Given the description of an element on the screen output the (x, y) to click on. 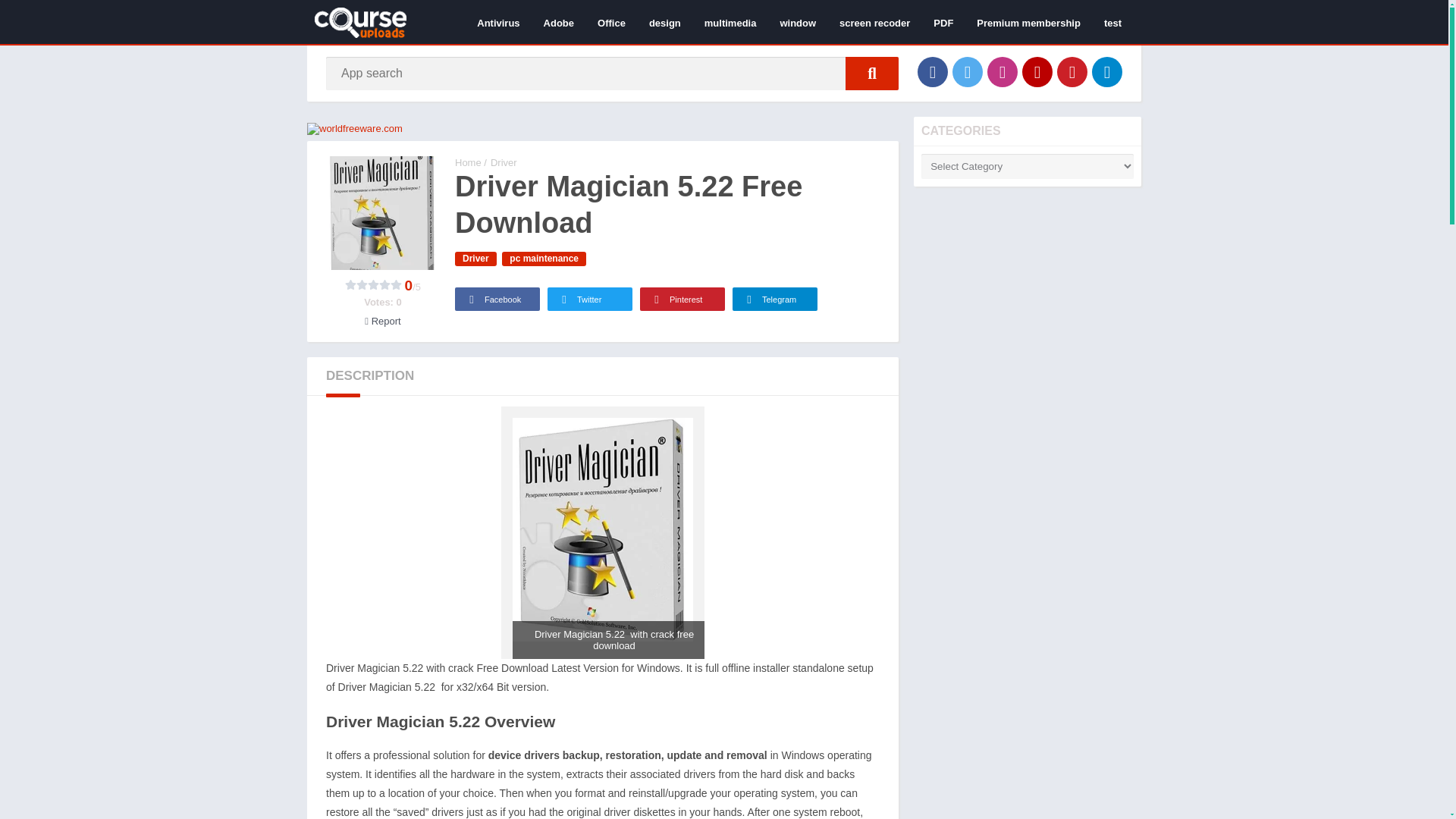
Course uploads (467, 162)
PDF (942, 22)
Facebook (932, 71)
design (665, 22)
multimedia (730, 22)
Pinterest (1072, 71)
Premium membership (1028, 22)
Office (611, 22)
screen recoder (874, 22)
test (1112, 22)
